Given the description of an element on the screen output the (x, y) to click on. 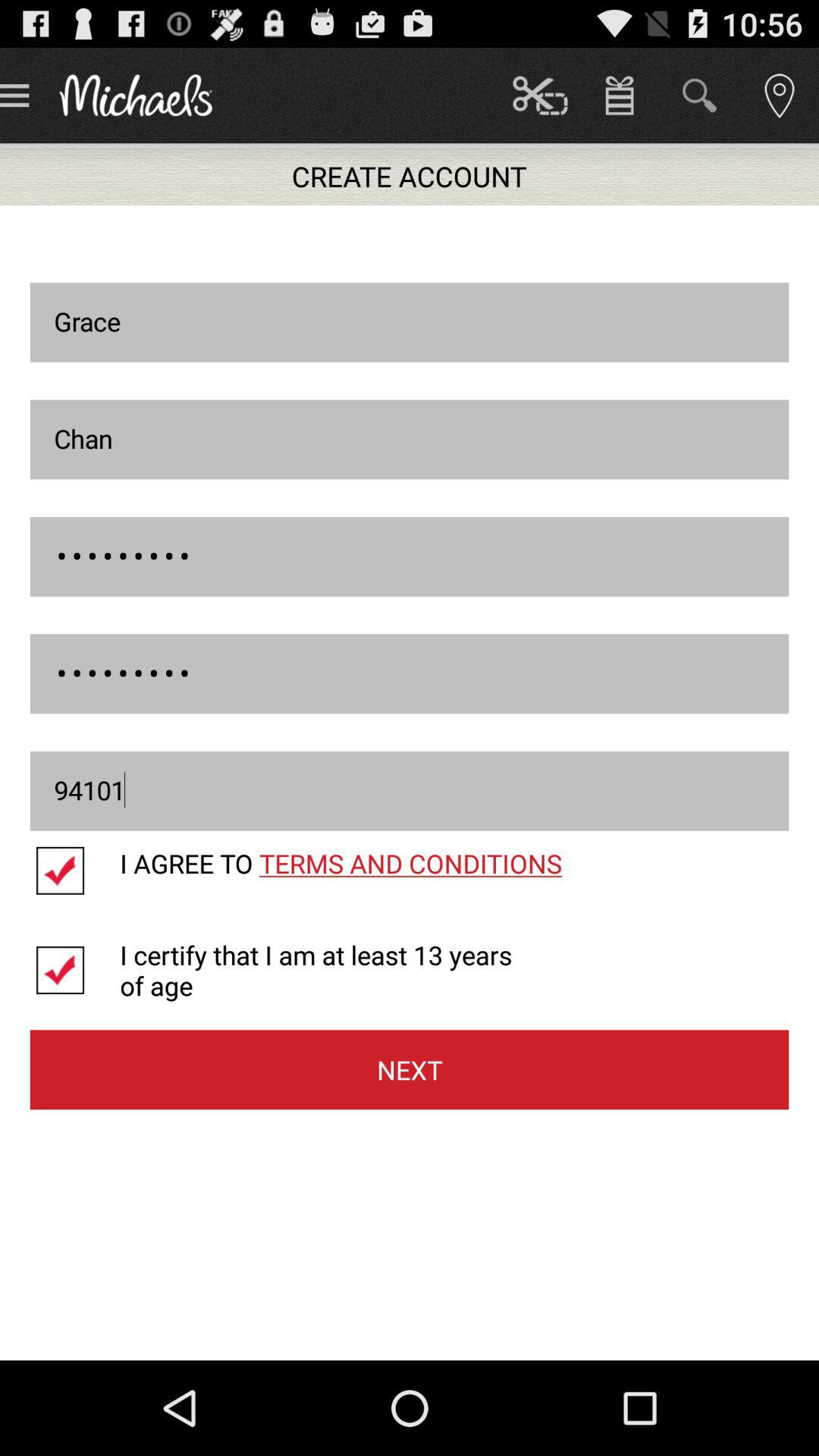
toggle i agree (75, 870)
